Given the description of an element on the screen output the (x, y) to click on. 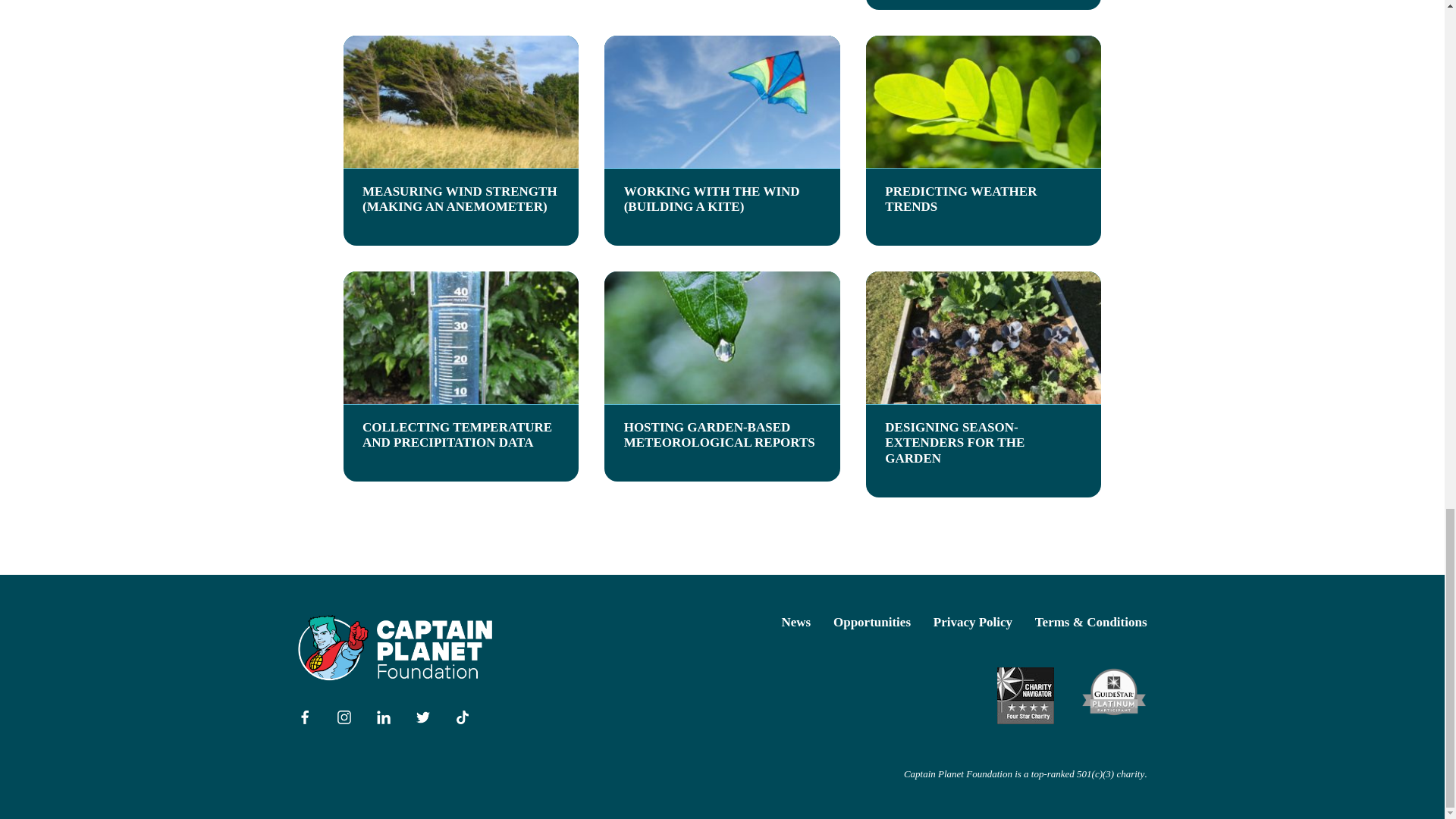
HOSTING GARDEN-BASED METEOROLOGICAL REPORTS (722, 376)
PREDICTING WEATHER TRENDS (984, 140)
COLLECTING TEMPERATURE AND PRECIPITATION DATA (460, 376)
DESIGNING SEASON-EXTENDERS FOR THE GARDEN (984, 383)
Scroll back to top (1406, 173)
